Given the description of an element on the screen output the (x, y) to click on. 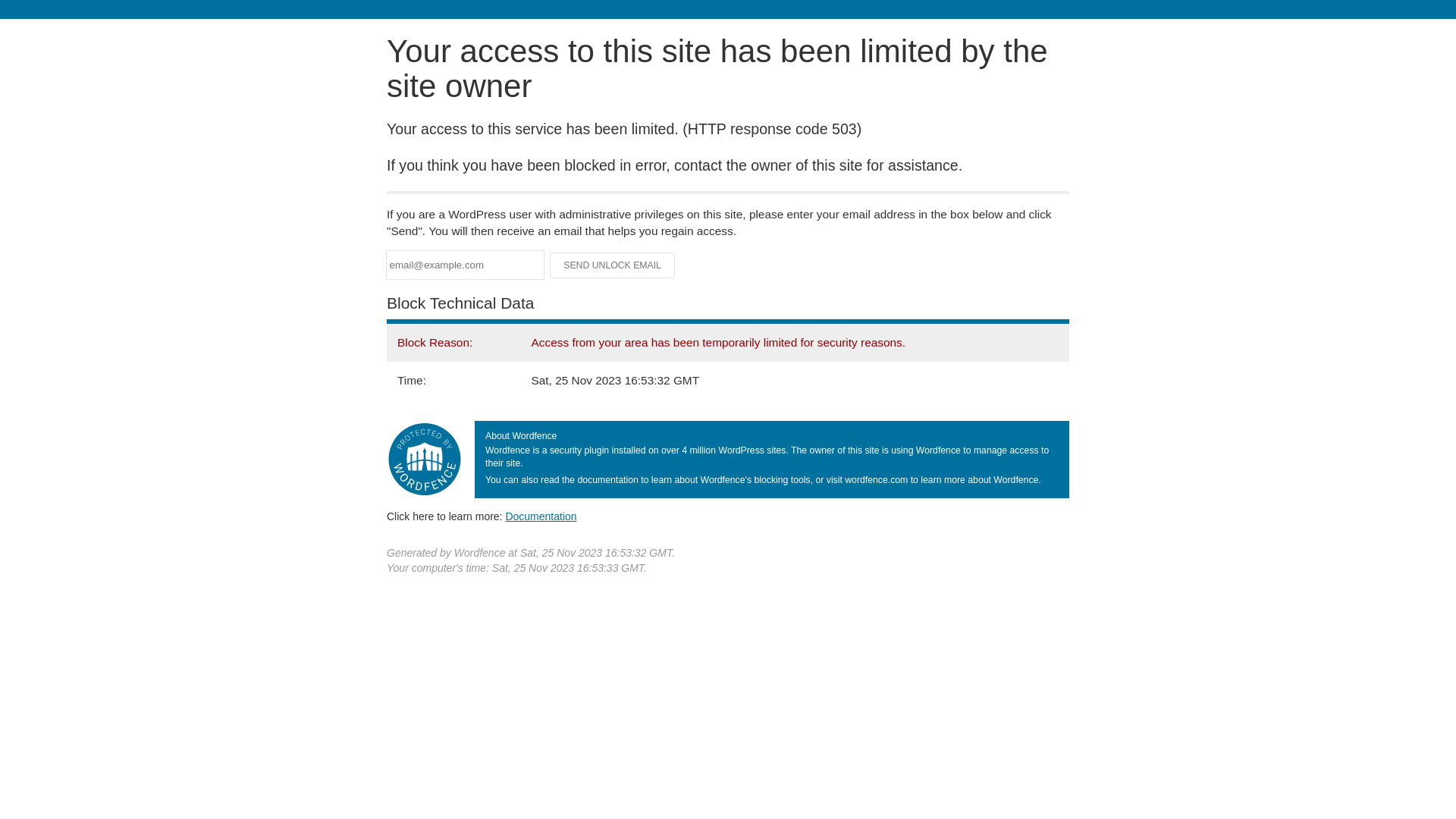
Documentation Element type: text (540, 516)
Send Unlock Email Element type: text (612, 265)
